Given the description of an element on the screen output the (x, y) to click on. 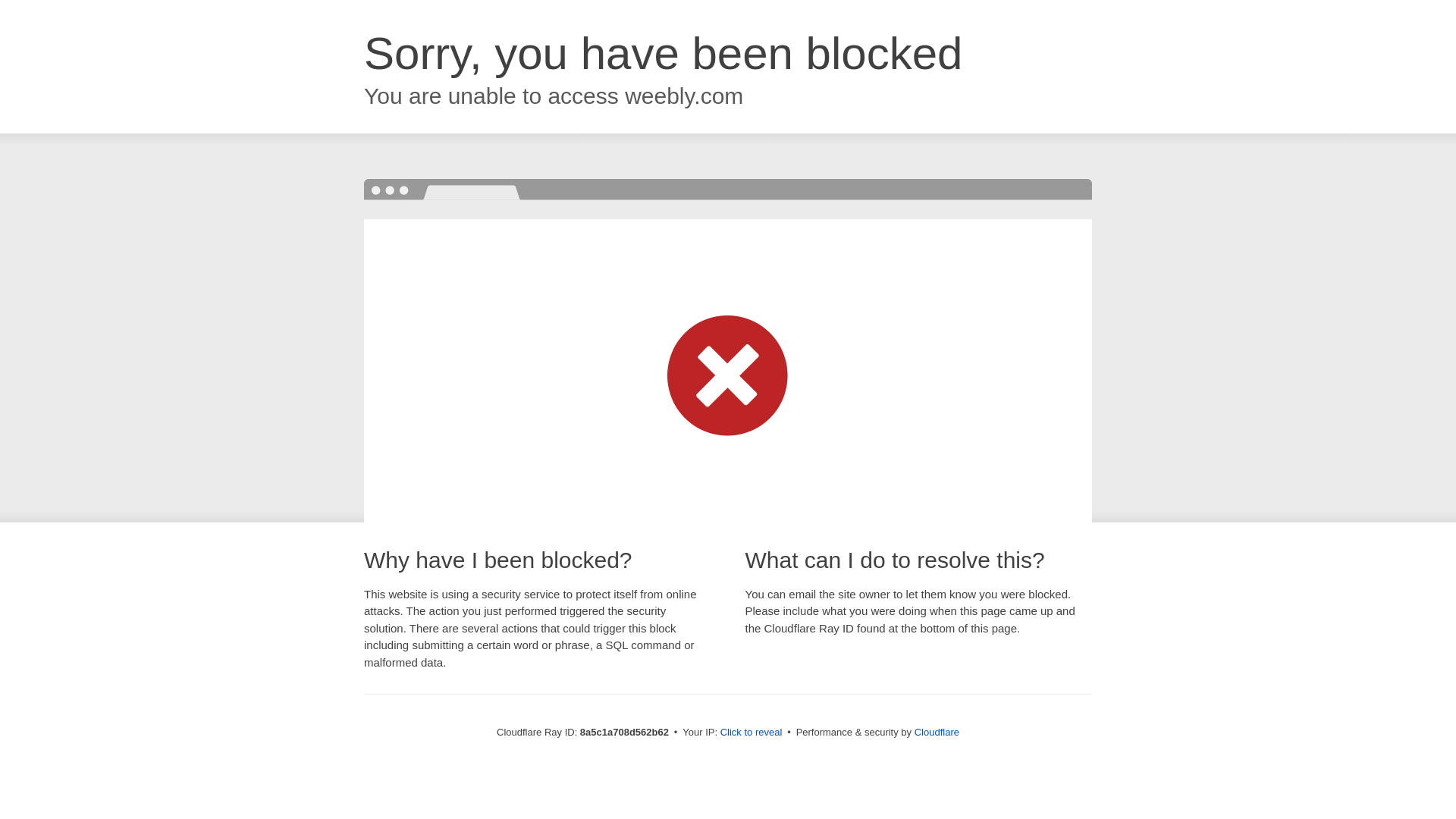
Click to reveal (751, 732)
Cloudflare (936, 731)
